Given the description of an element on the screen output the (x, y) to click on. 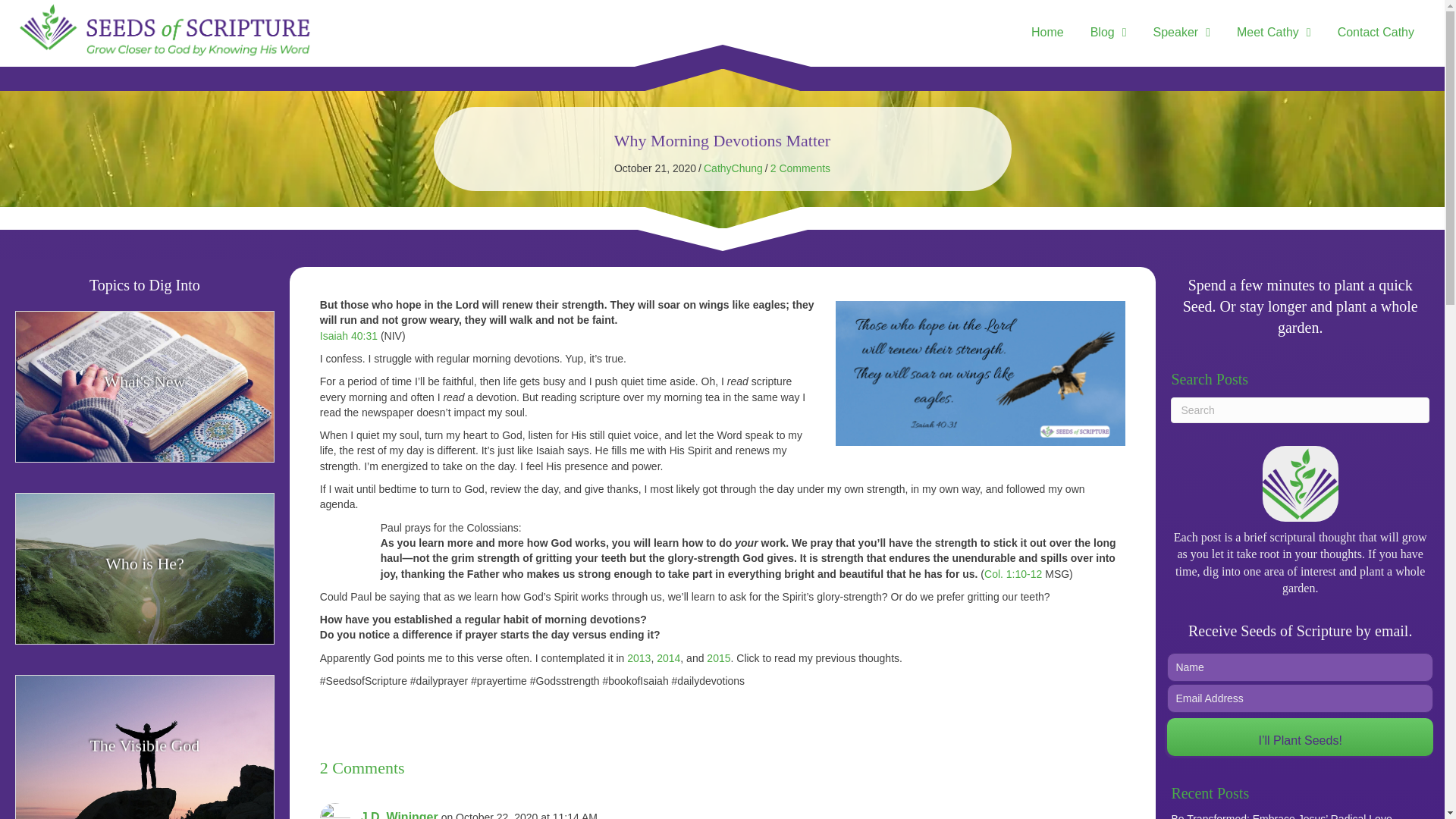
Blog (1109, 32)
seeds-of-scripture-logo-tag (166, 33)
CathyChung (732, 168)
Speaker (1183, 32)
Contact Cathy (1377, 32)
Home (1049, 32)
Meet Cathy (1275, 32)
Type and press Enter to search. (1299, 410)
2 Comments (799, 168)
